Given the description of an element on the screen output the (x, y) to click on. 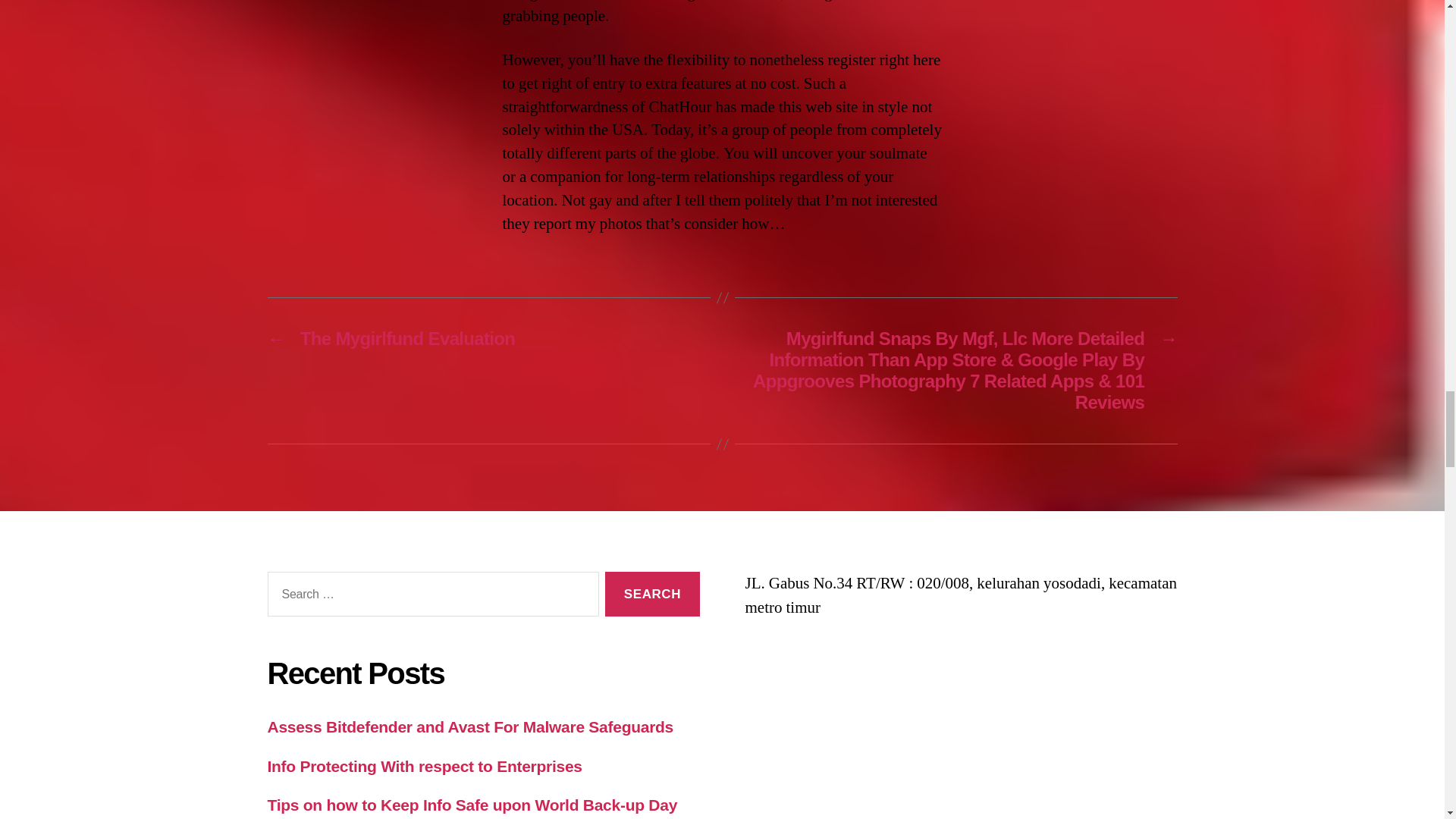
Search (651, 593)
Search (651, 593)
Search (651, 593)
Tips on how to Keep Info Safe upon World Back-up Day (471, 805)
Assess Bitdefender and Avast For Malware Safeguards (469, 726)
Info Protecting With respect to Enterprises (423, 765)
